Given the description of an element on the screen output the (x, y) to click on. 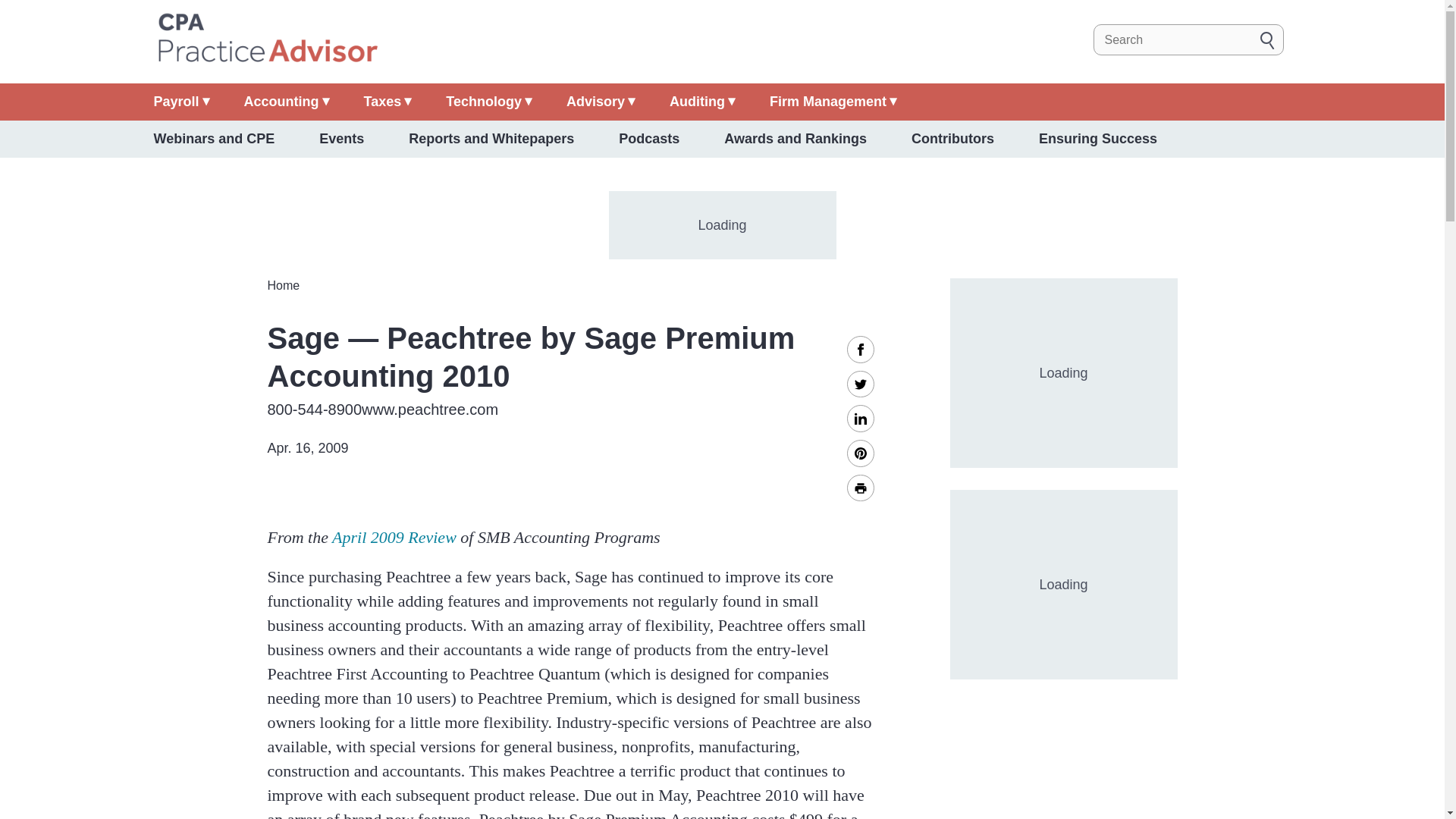
Payroll (180, 101)
Advisory (600, 101)
Technology (488, 101)
Auditing (702, 101)
Home (266, 39)
Taxes (388, 101)
Accounting (287, 101)
